Given the description of an element on the screen output the (x, y) to click on. 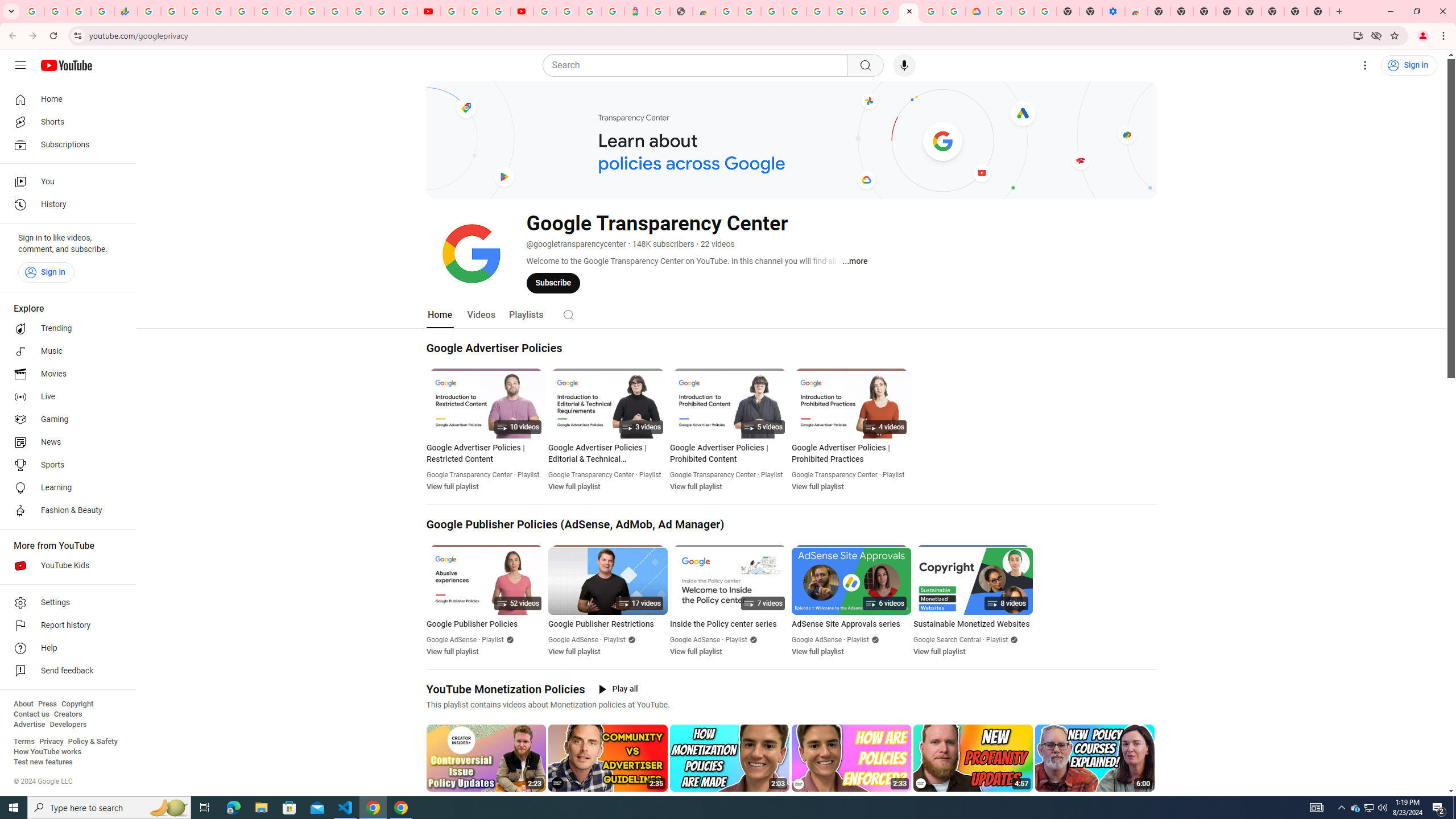
Sign in - Google Accounts (545, 11)
Search with your voice (903, 65)
Create your Google Account (498, 11)
Google Advertiser Policies | Prohibited Practices (850, 453)
Google Advertiser Policies | Prohibited Content (729, 453)
Google Transparency Center - YouTube (909, 11)
Create your Google Account (749, 11)
New Tab (1318, 11)
